Given the description of an element on the screen output the (x, y) to click on. 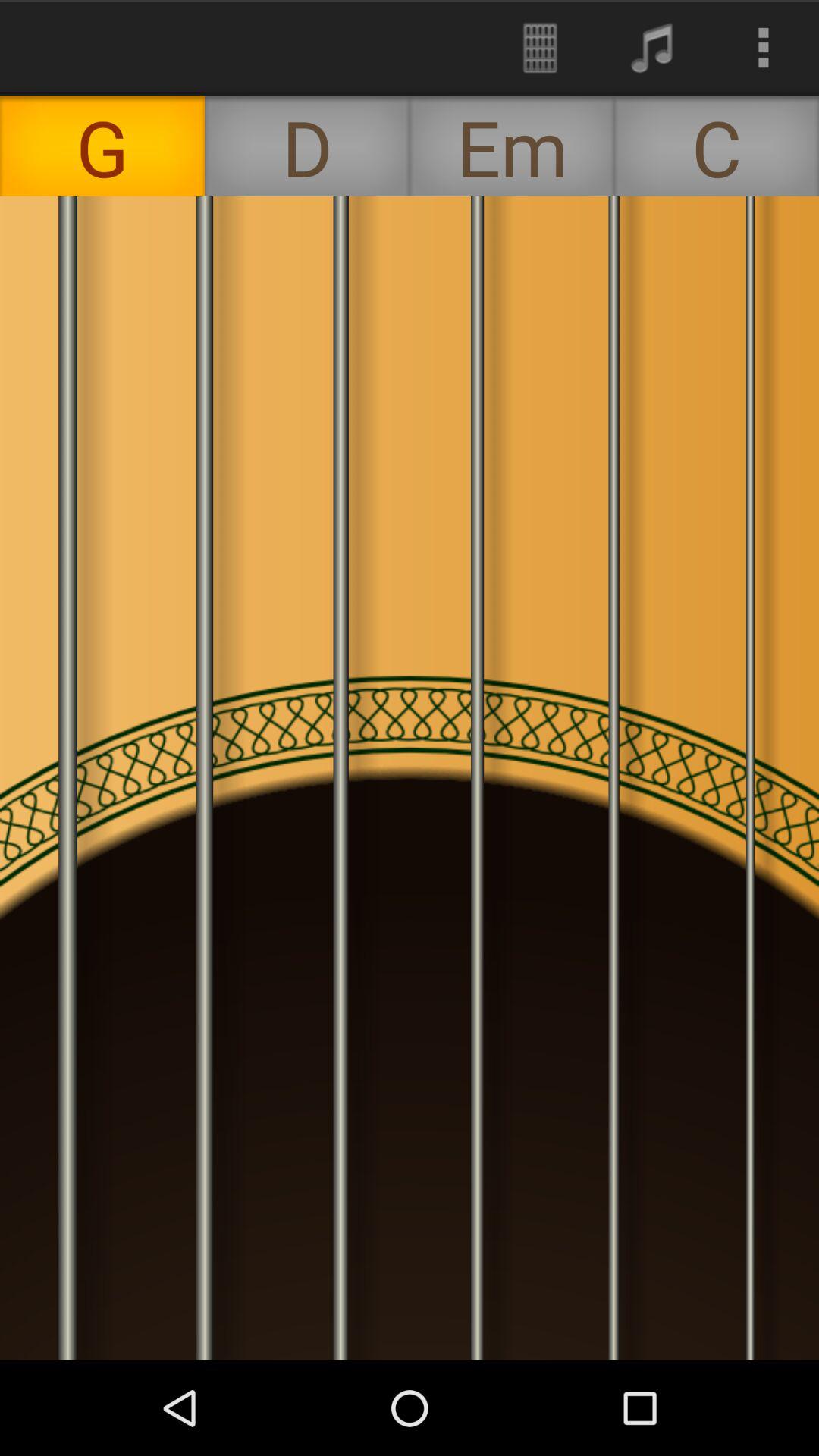
launch the item next to d item (540, 47)
